Given the description of an element on the screen output the (x, y) to click on. 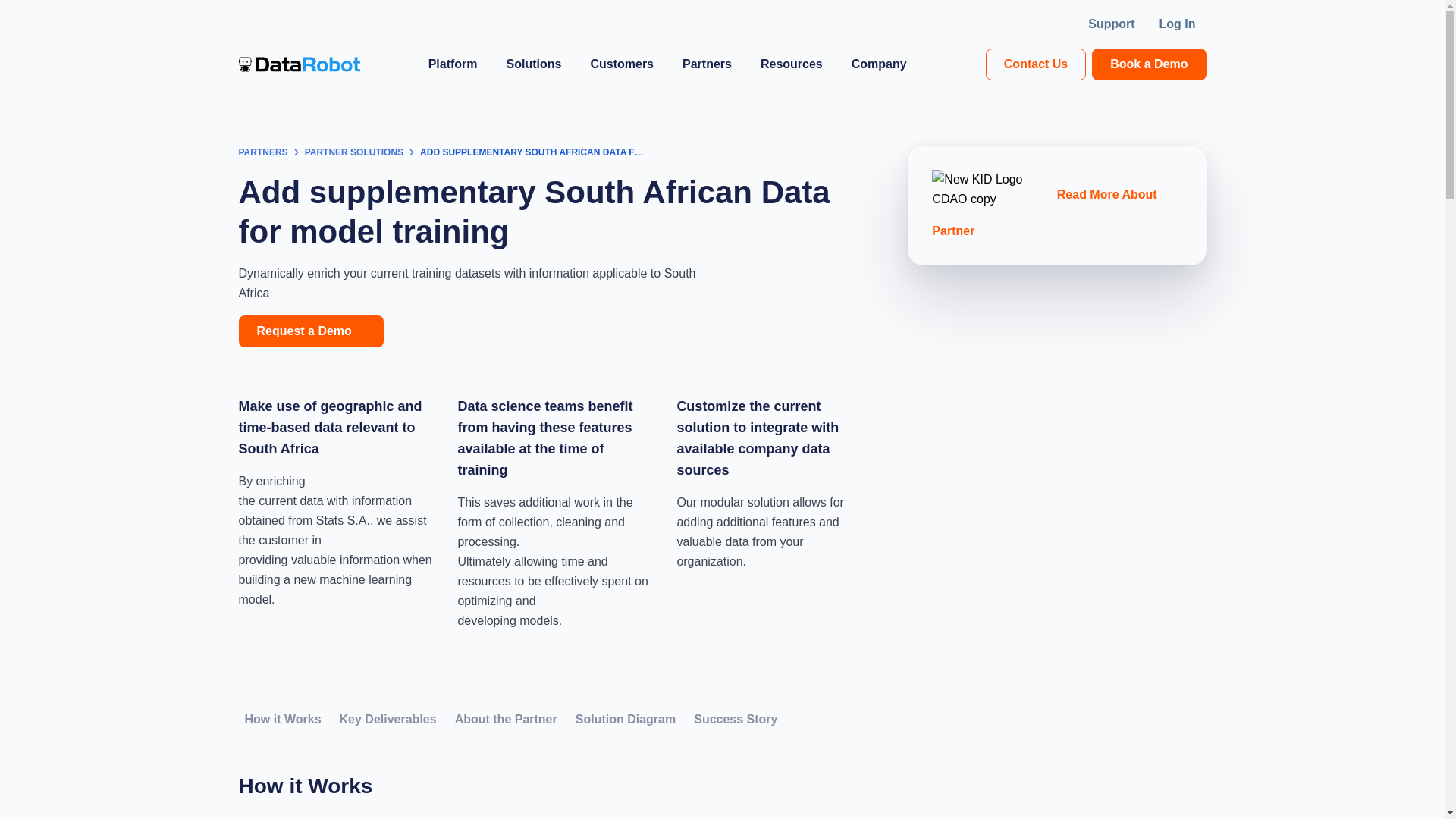
Add supplementary South African Data for model training (531, 152)
DataRobot (298, 64)
